Given the description of an element on the screen output the (x, y) to click on. 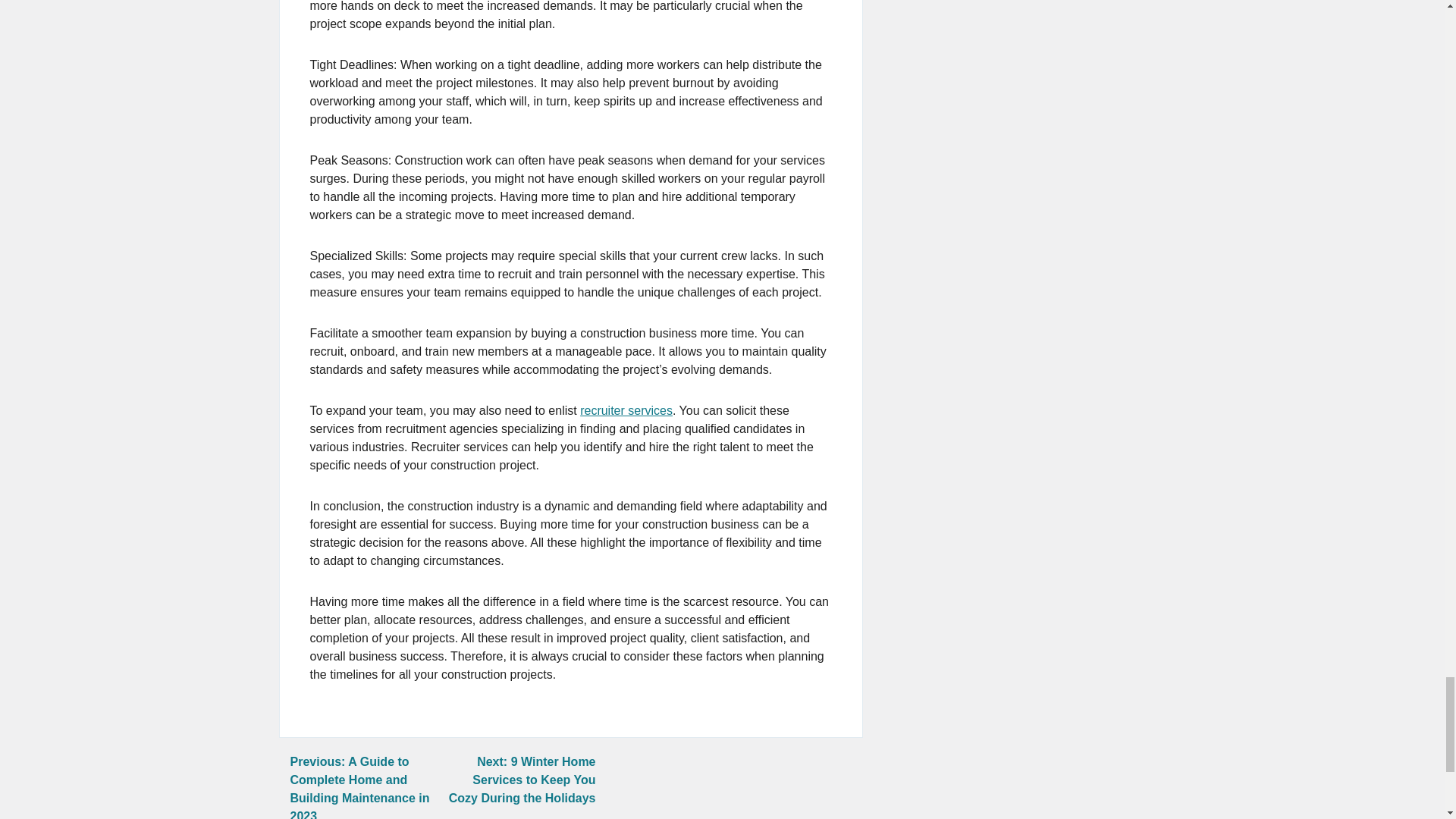
recruiter services (625, 410)
